Given the description of an element on the screen output the (x, y) to click on. 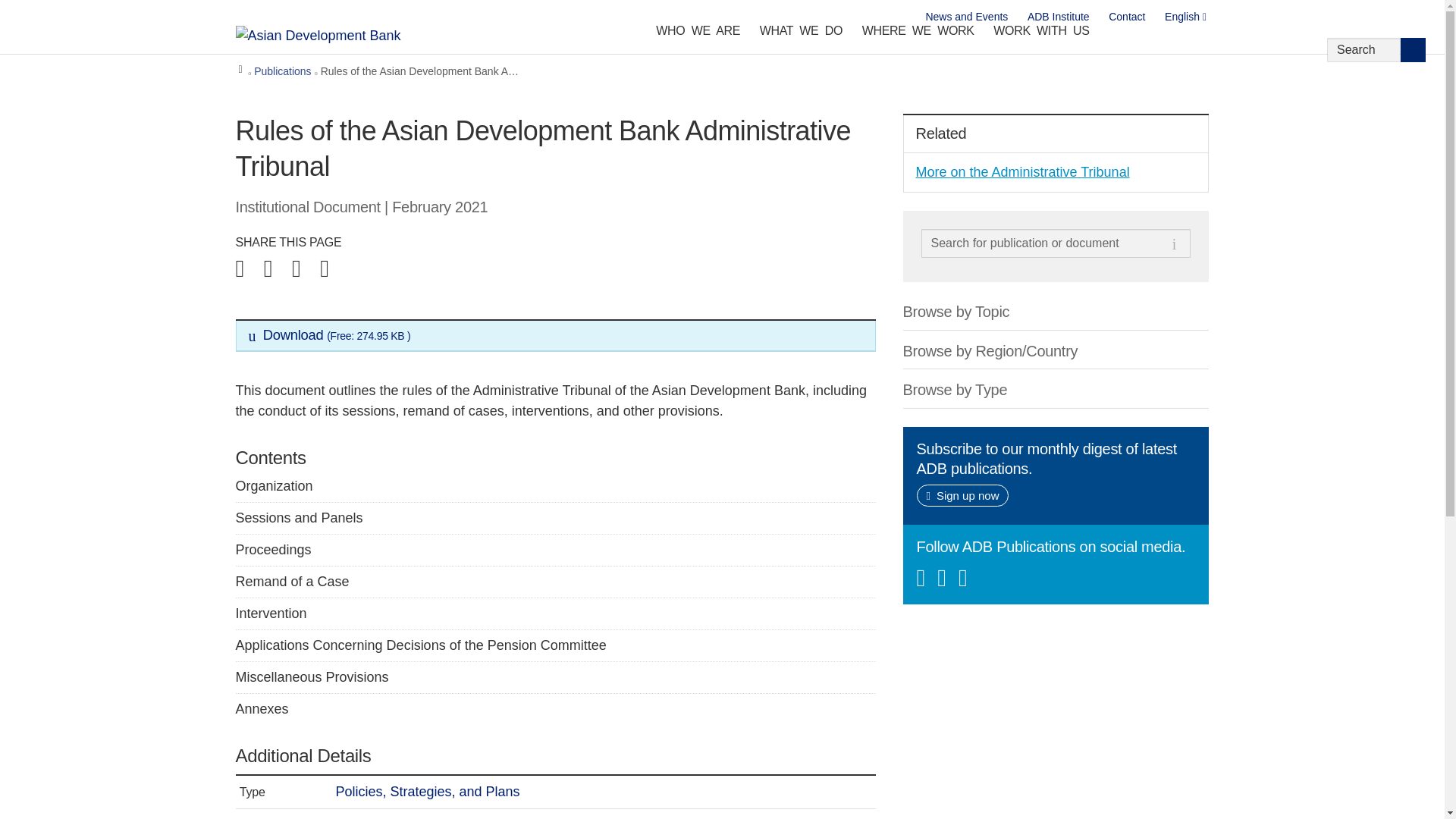
English   (1186, 17)
Contact (1126, 17)
ADB Institute (1058, 17)
WORK  WITH  US (1041, 33)
News and Events (966, 17)
WHAT  WE  DO (800, 33)
WHO  WE  ARE (697, 33)
WHERE  WE  WORK (917, 33)
Rules of the Asian Development Bank Administrative Tribunal (555, 334)
ADB Home (338, 35)
Search (1412, 49)
